Given the description of an element on the screen output the (x, y) to click on. 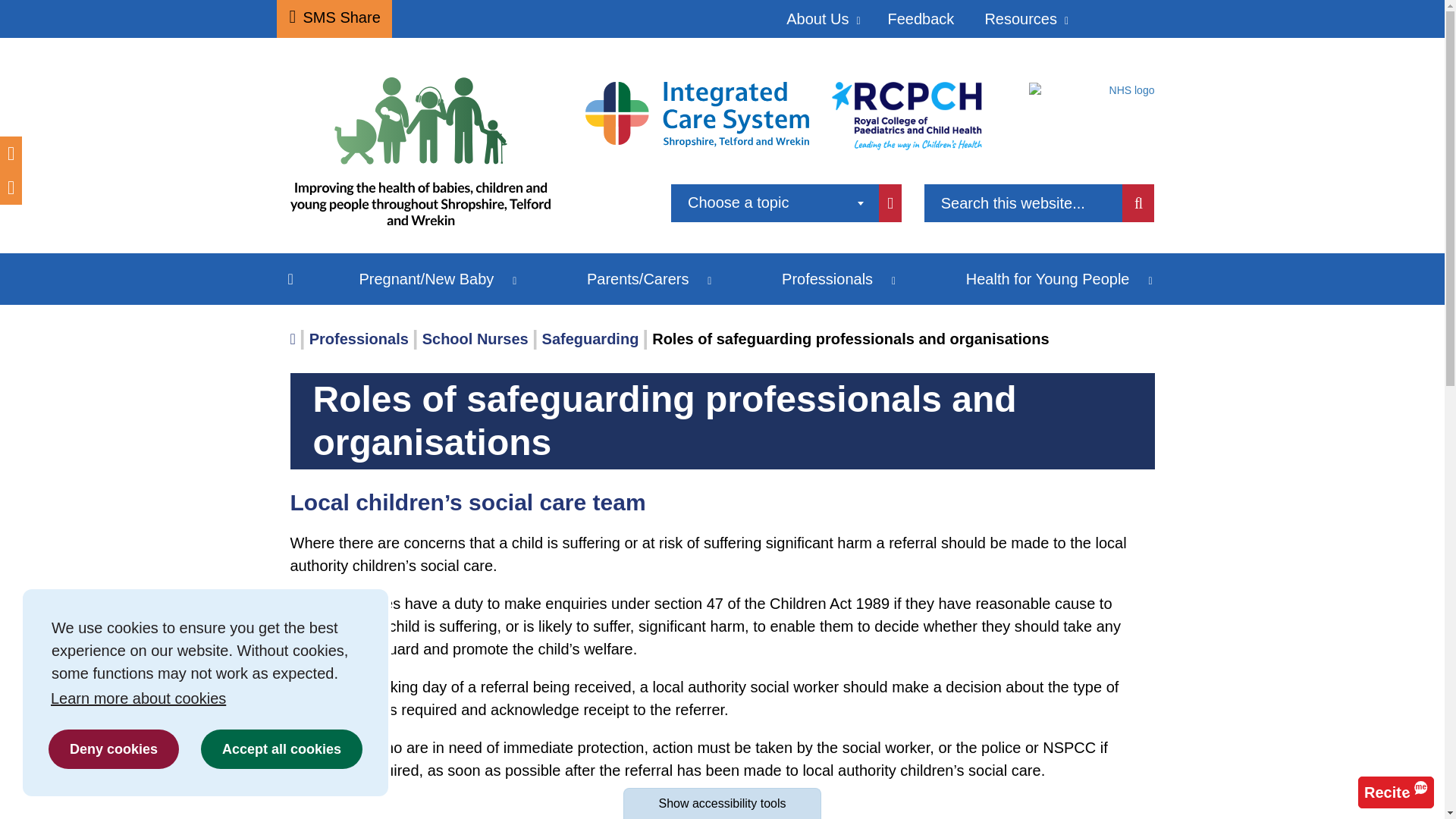
Feedback (920, 18)
Choose a topic (774, 202)
Deny cookies (113, 749)
Resources (1024, 18)
Homepage (425, 157)
Show accessibility tools (722, 803)
Send this link to a friend via text message! (333, 18)
Learn more about cookies (204, 698)
STW NHS (1091, 89)
Accept all cookies (281, 749)
Shropshire, Telford and Wrekin Integrated Care System (697, 113)
SMS Share (333, 18)
About Us (820, 18)
The Royal College of Paediatrics and Child Health (906, 114)
